Given the description of an element on the screen output the (x, y) to click on. 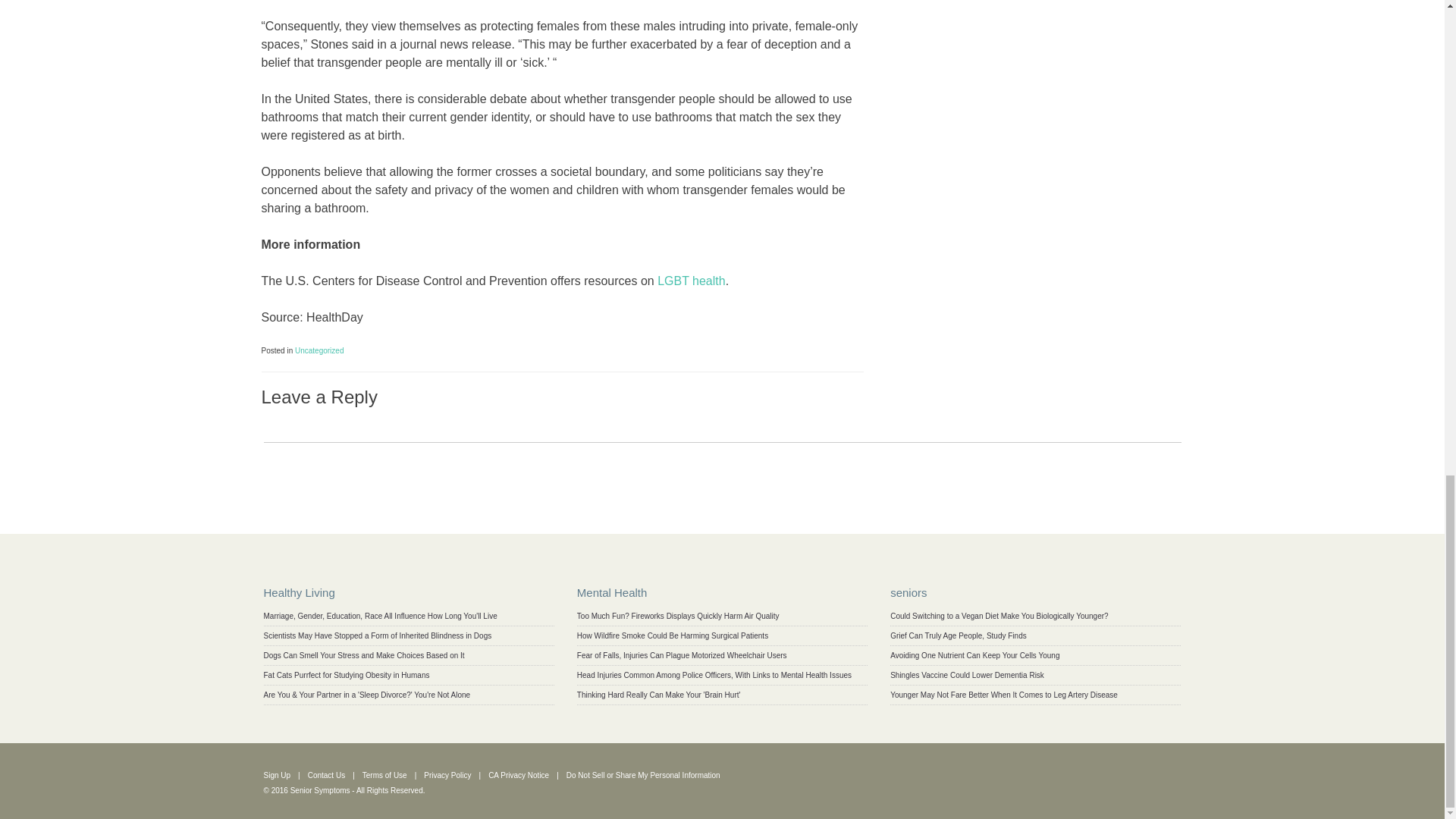
Uncategorized (319, 350)
Avoiding One Nutrient Can Keep Your Cells Young (974, 655)
Dogs Can Smell Your Stress and Make Choices Based on It (363, 655)
Too Much Fun? Fireworks Displays Quickly Harm Air Quality (677, 615)
Terms of Use (384, 775)
Privacy Policy (446, 775)
